Given the description of an element on the screen output the (x, y) to click on. 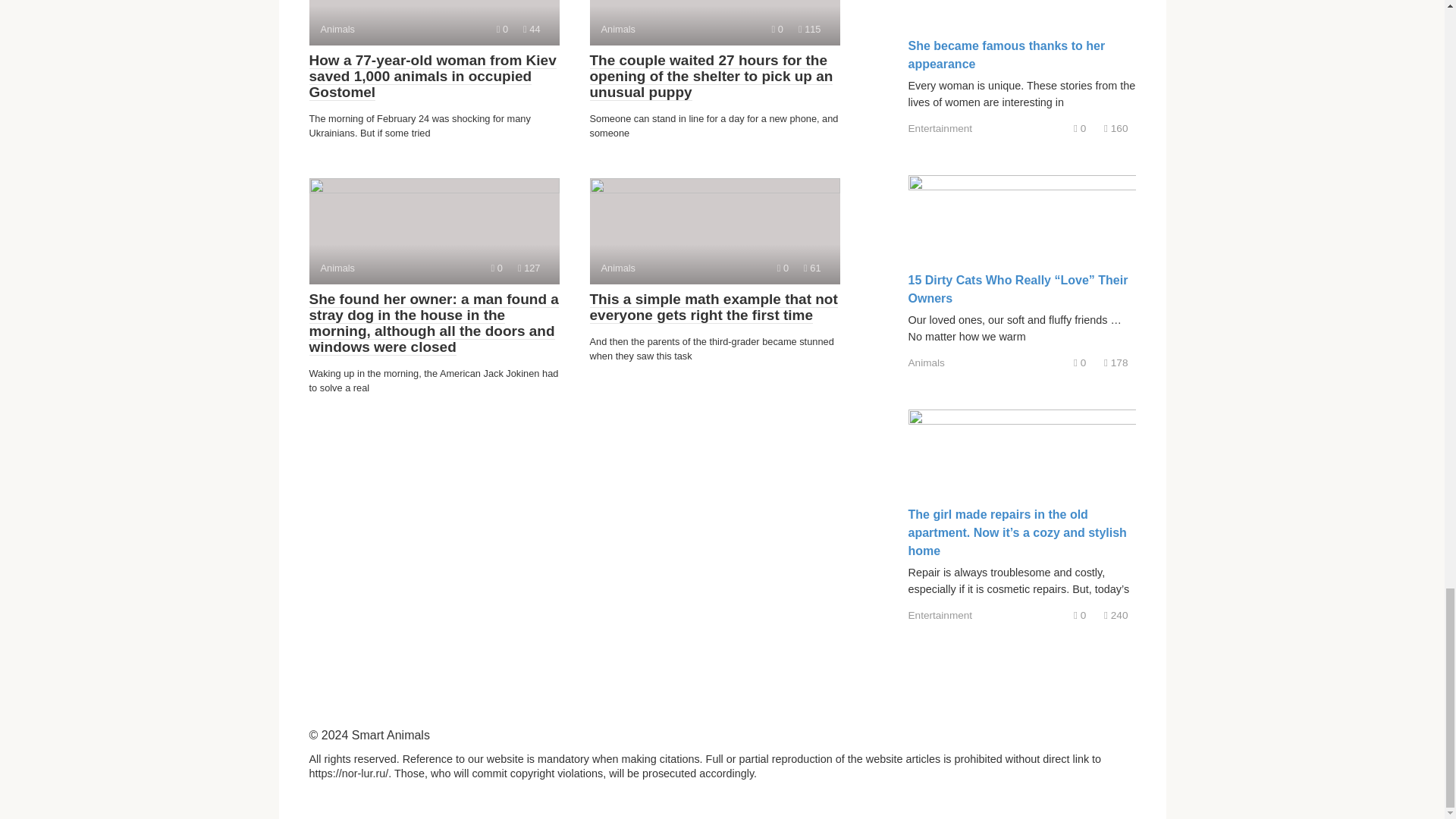
Comments (497, 267)
Comments (433, 22)
Comments (502, 29)
Comments (783, 267)
Views (777, 29)
Views (529, 267)
